Given the description of an element on the screen output the (x, y) to click on. 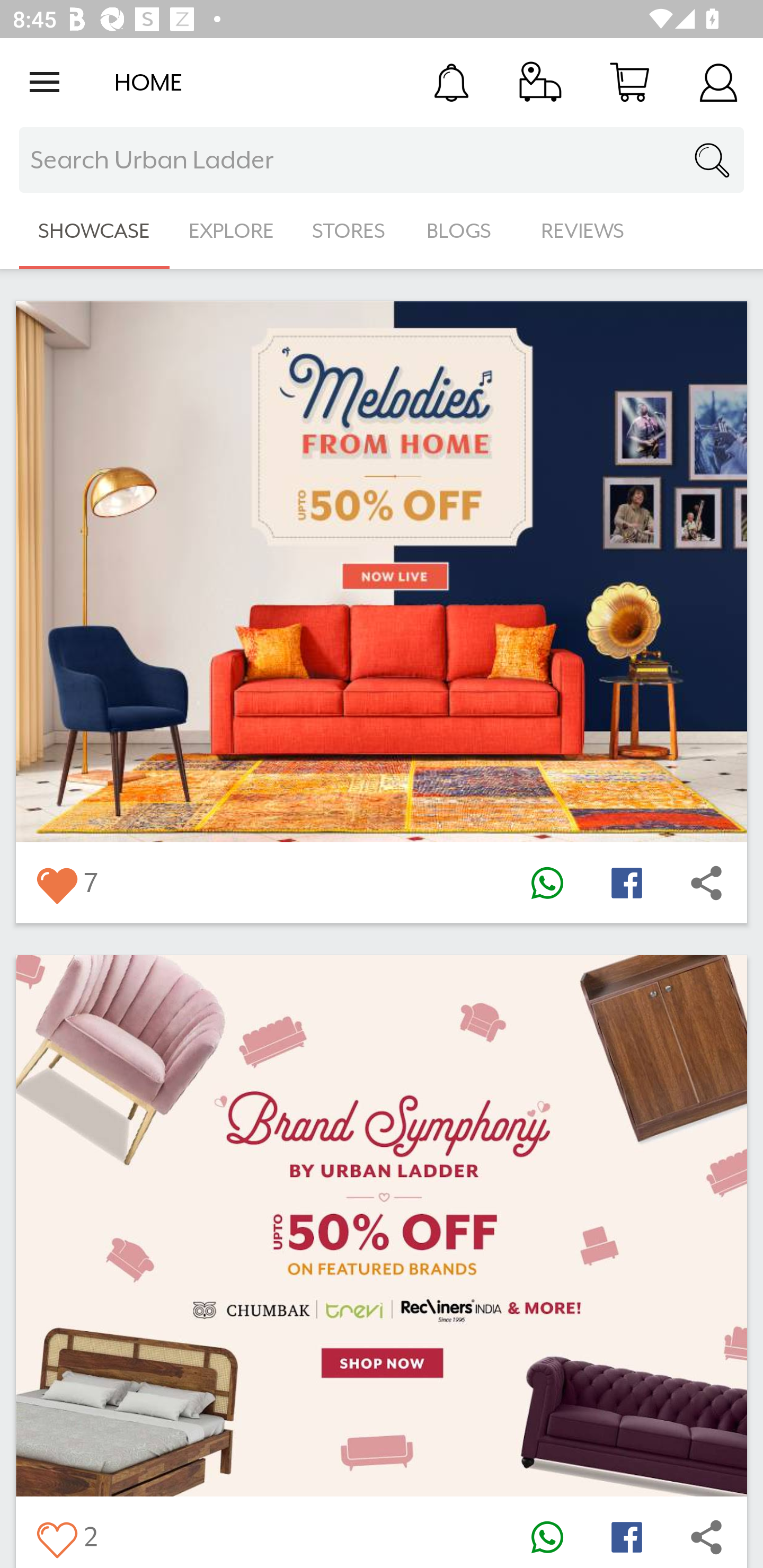
Open navigation drawer (44, 82)
Notification (450, 81)
Track Order (540, 81)
Cart (629, 81)
Account Details (718, 81)
Search Urban Ladder  (381, 159)
SHOWCASE (94, 230)
EXPLORE (230, 230)
STORES (349, 230)
BLOGS (464, 230)
REVIEWS (582, 230)
 (55, 882)
 (547, 882)
 (626, 882)
 (706, 882)
 (55, 1536)
 (547, 1536)
 (626, 1536)
 (706, 1536)
